Given the description of an element on the screen output the (x, y) to click on. 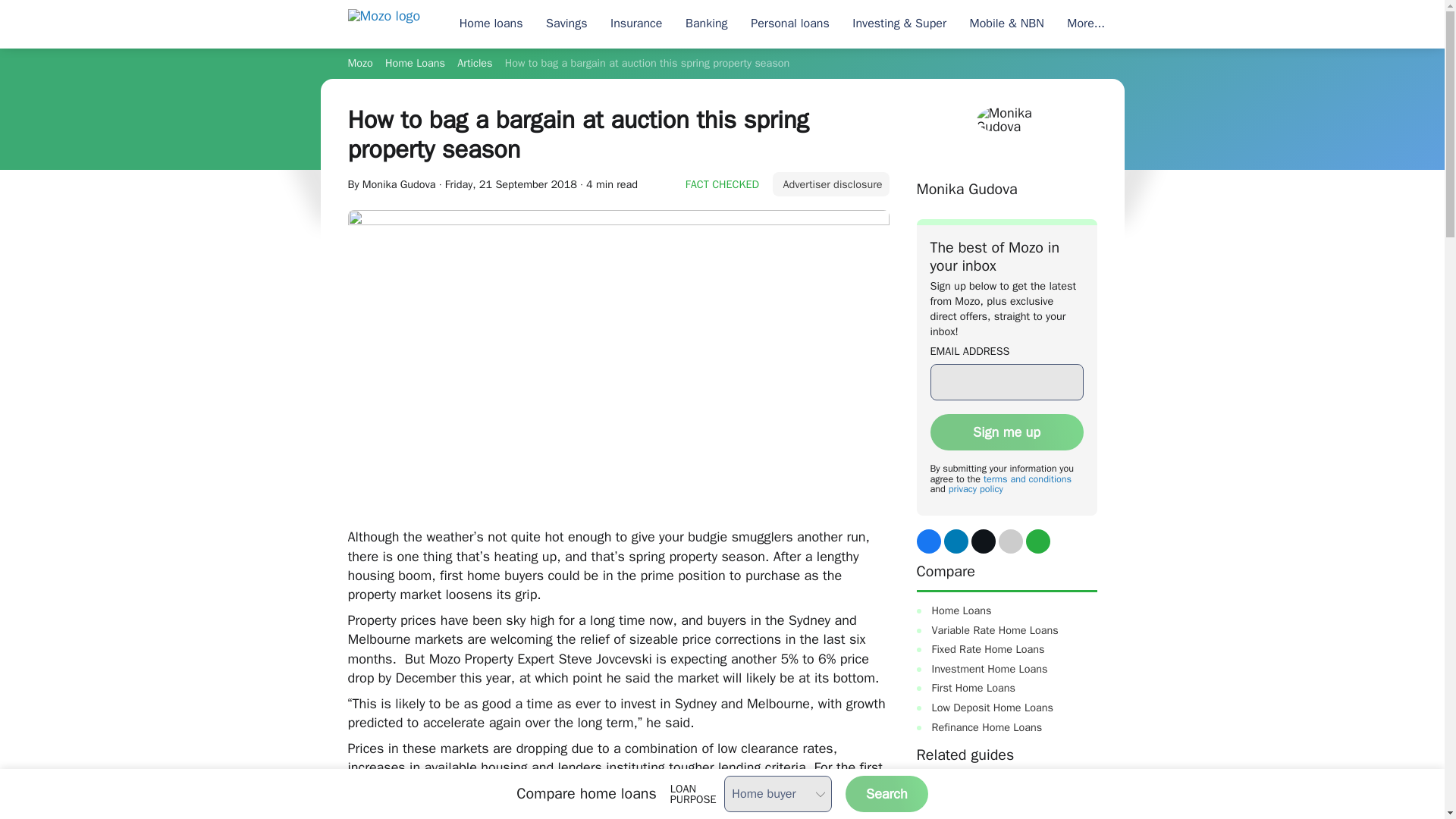
Insurance (635, 24)
Home loans (490, 24)
Savings (565, 24)
